Given the description of an element on the screen output the (x, y) to click on. 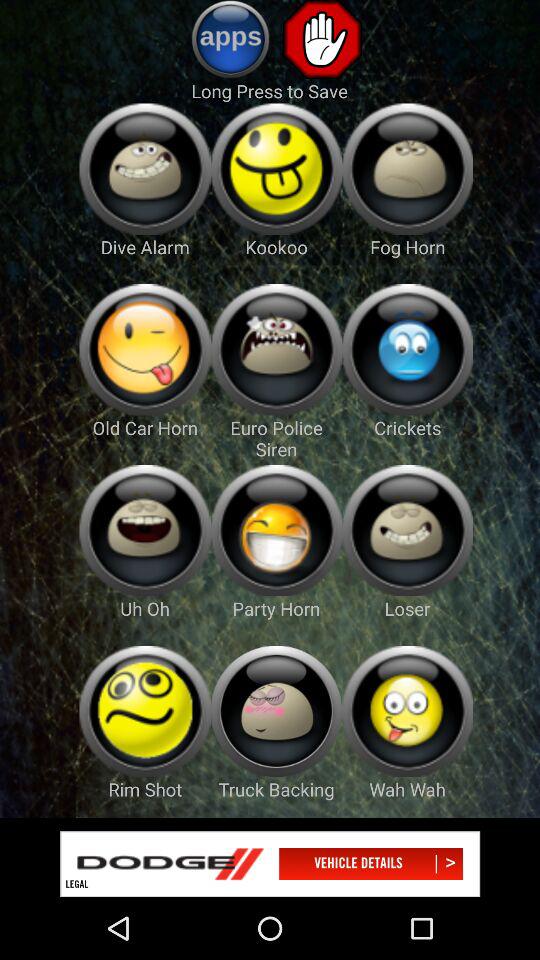
select an option (407, 168)
